Given the description of an element on the screen output the (x, y) to click on. 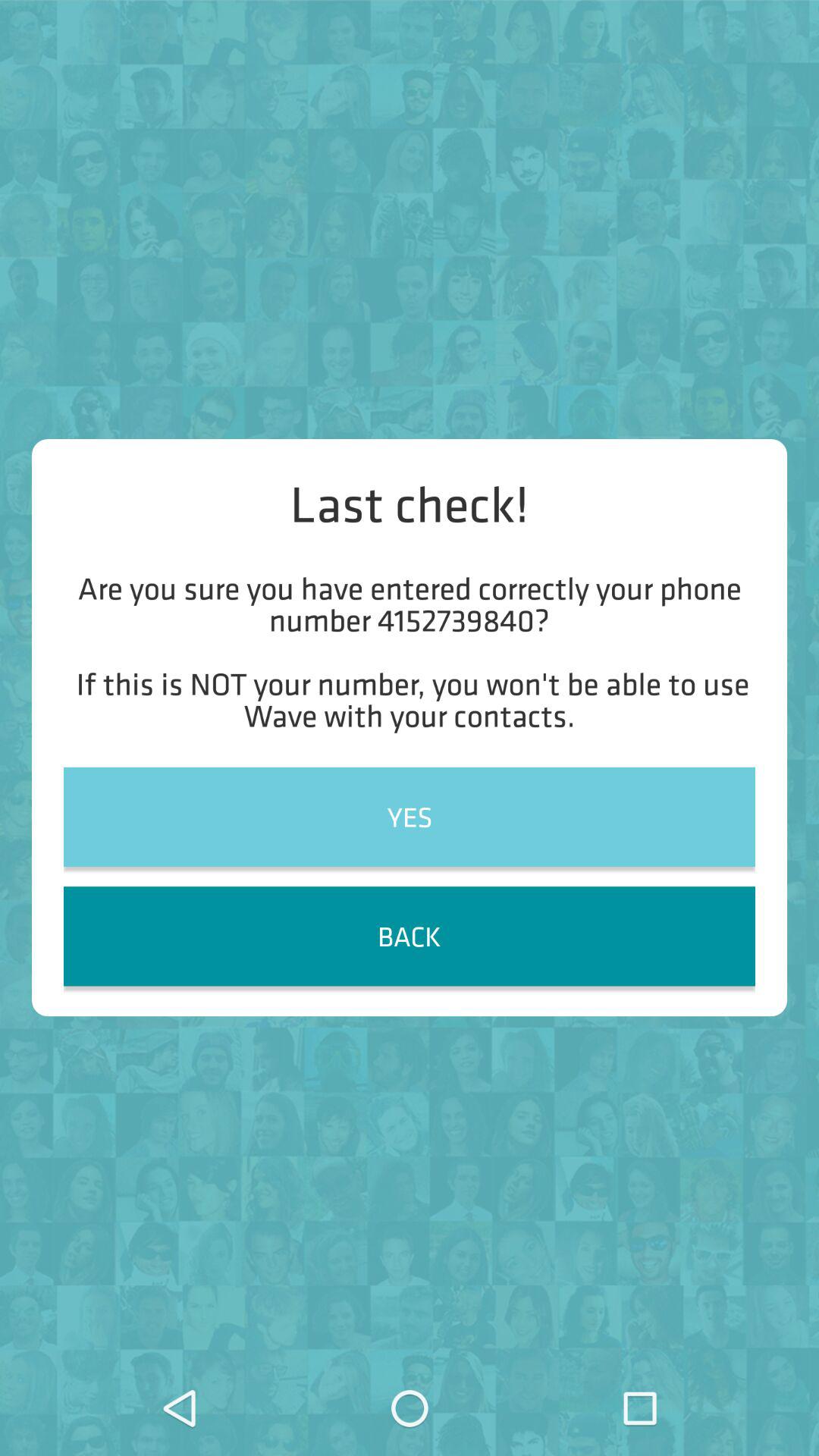
turn off the item below last check! item (409, 651)
